Given the description of an element on the screen output the (x, y) to click on. 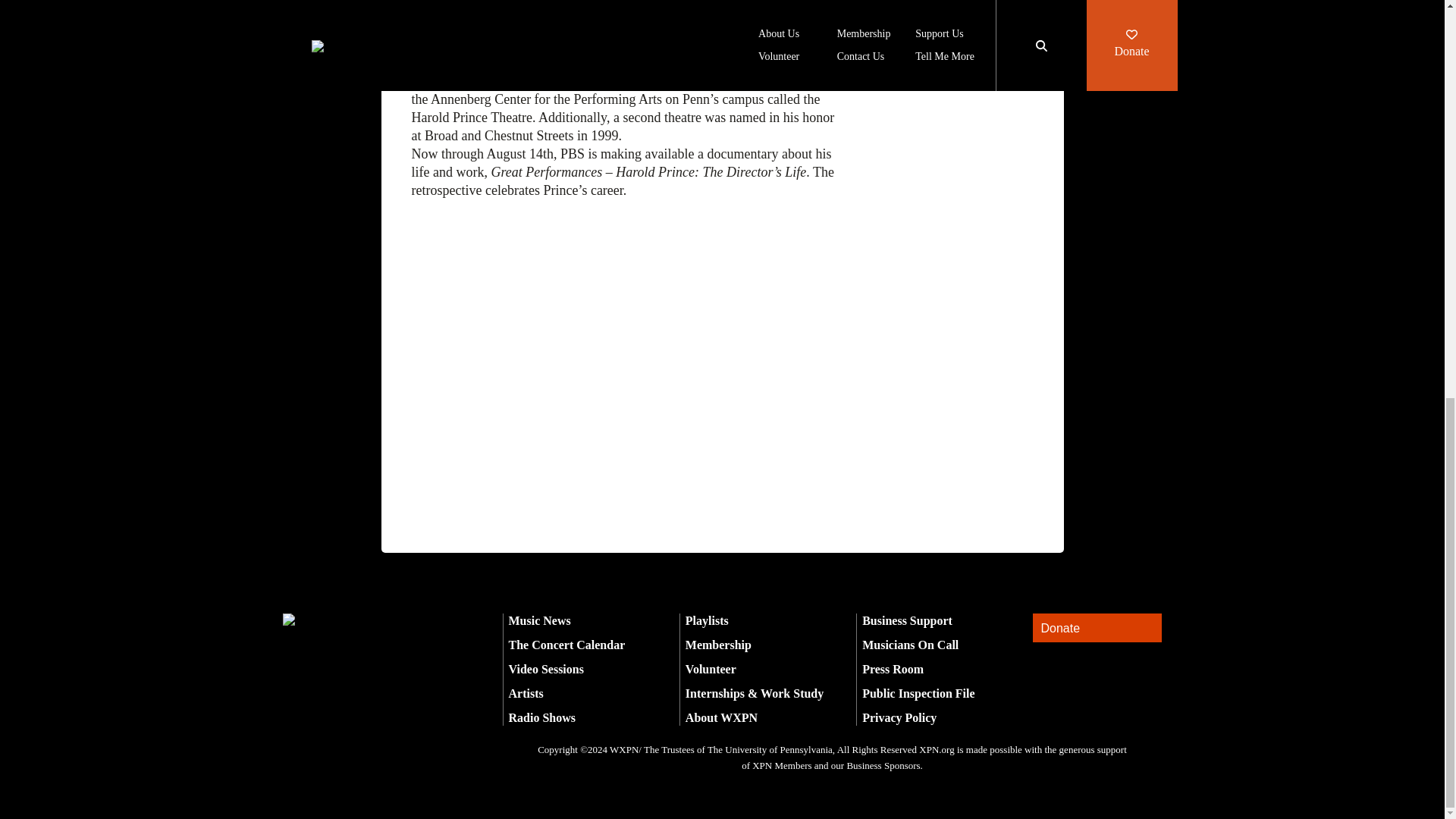
The Concert Calendar (566, 644)
Privacy Policy (898, 717)
Press Room (892, 668)
Volunteer (710, 668)
Radio Shows (541, 717)
Membership (718, 644)
Musicians On Call (909, 644)
Donate (1096, 627)
Music News (539, 620)
Playlists (707, 620)
